Given the description of an element on the screen output the (x, y) to click on. 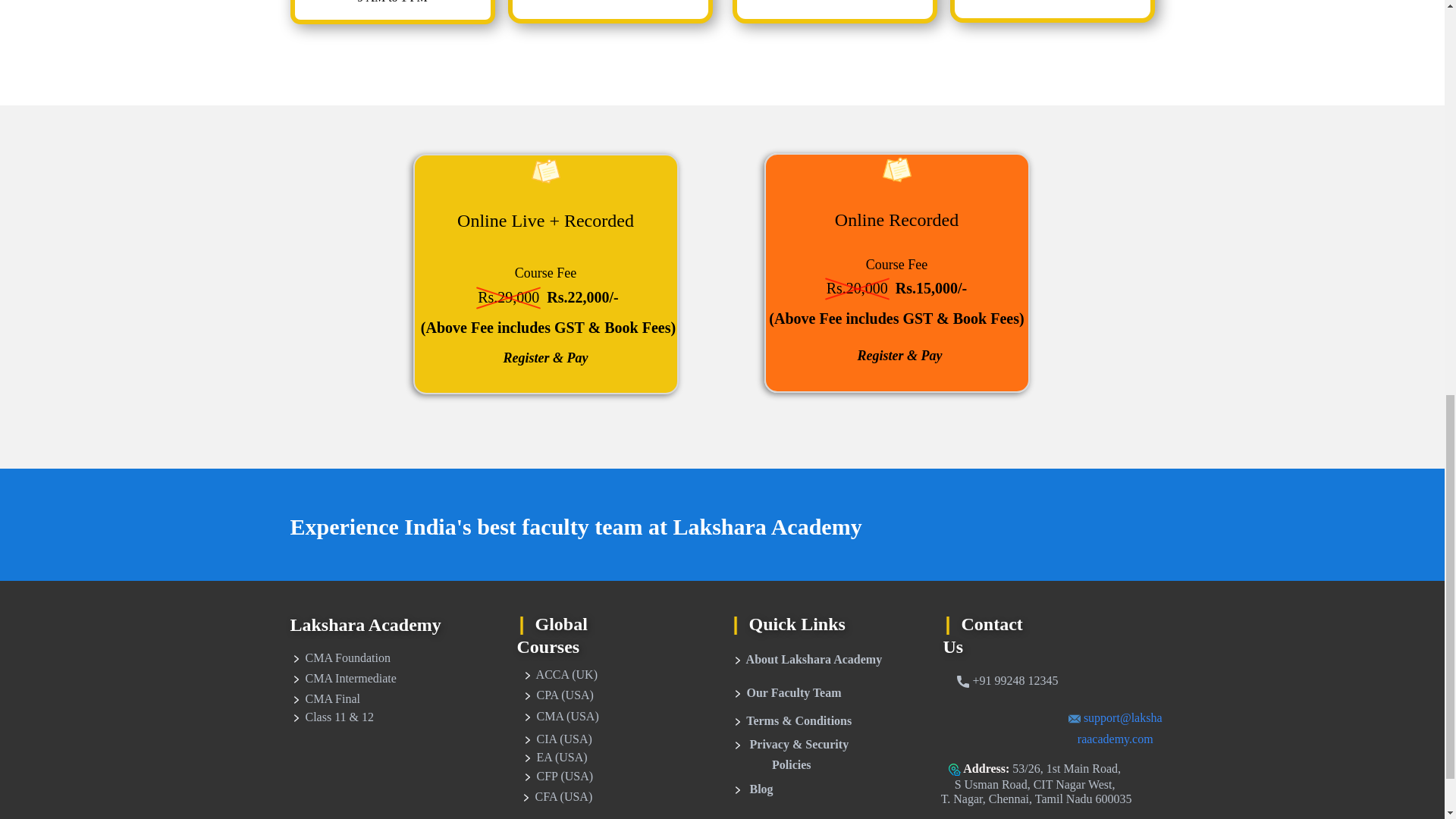
 Our Faculty Team (785, 693)
 CMA Final (324, 699)
 CMA Intermediate (342, 679)
  Blog (751, 789)
 About Lakshara Academy (806, 660)
 CMA Foundation (339, 658)
